Given the description of an element on the screen output the (x, y) to click on. 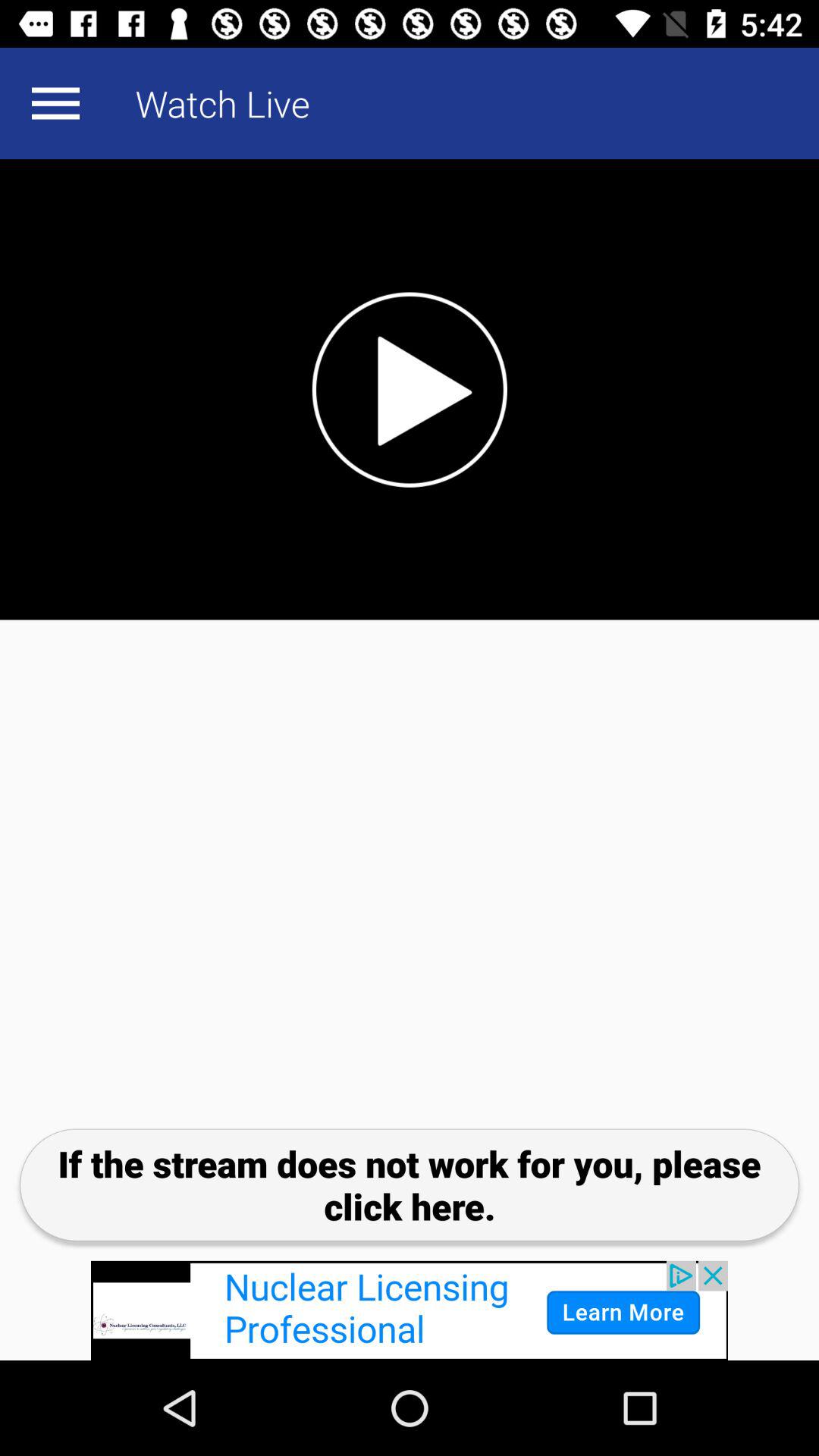
redirects you to offer page (409, 1310)
